Given the description of an element on the screen output the (x, y) to click on. 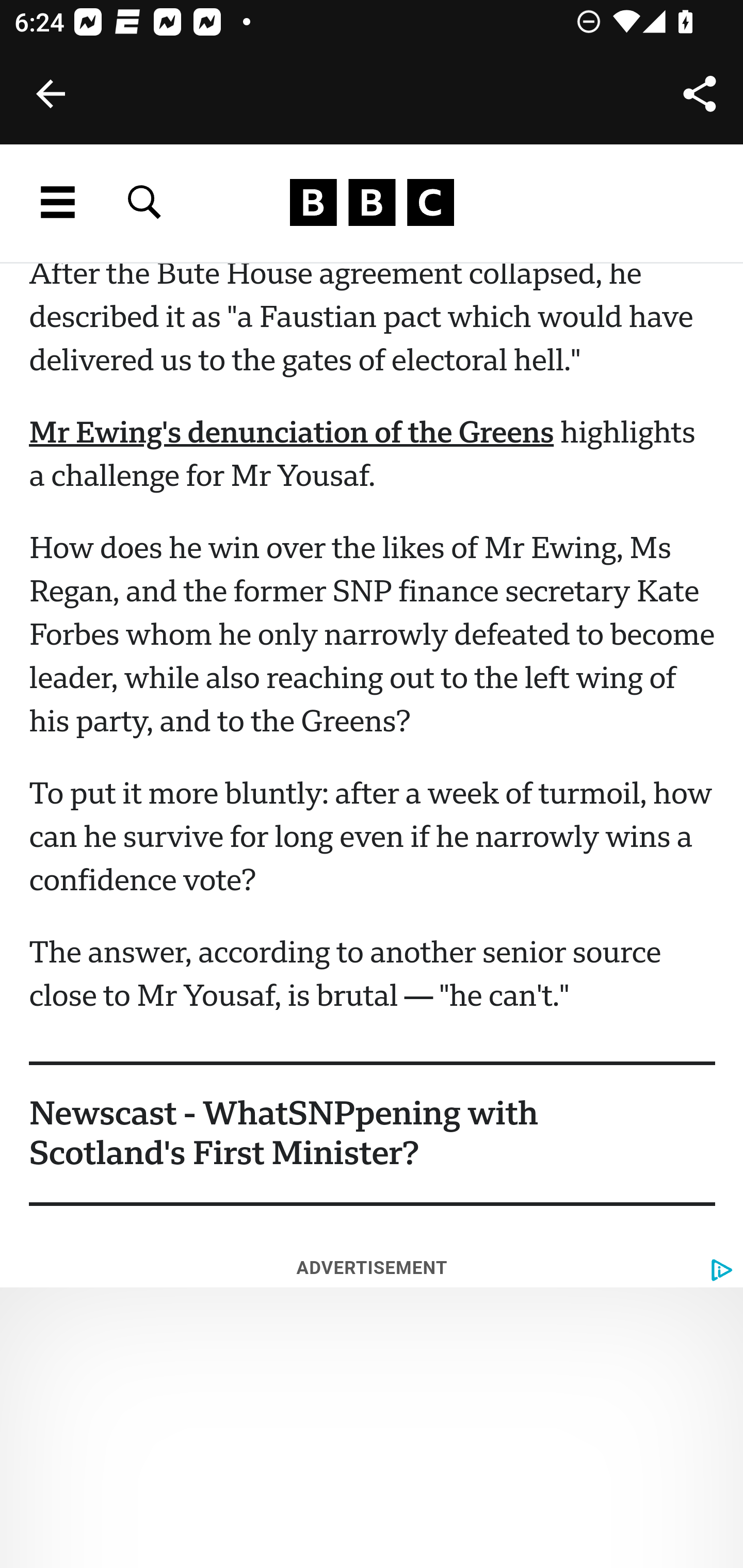
Back (50, 93)
Share (699, 93)
www.bbc (371, 202)
Mr Ewing's denunciation of the Greens (291, 435)
